Given the description of an element on the screen output the (x, y) to click on. 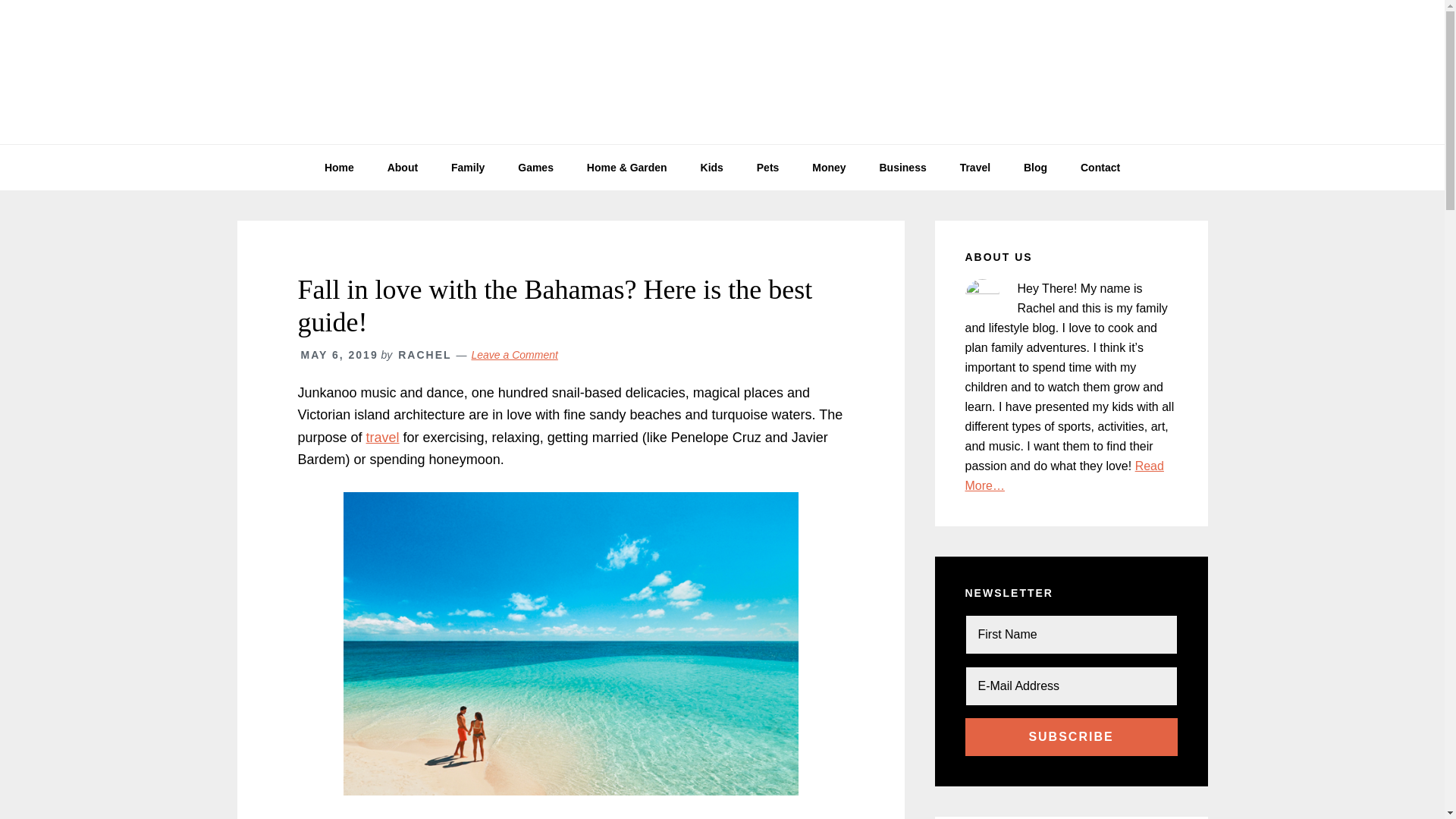
Blog (1035, 167)
RACHEL (424, 354)
Leave a Comment (513, 354)
Travel (975, 167)
Kids (711, 167)
Home (338, 167)
About (402, 167)
travel (382, 437)
My blog (722, 71)
